Given the description of an element on the screen output the (x, y) to click on. 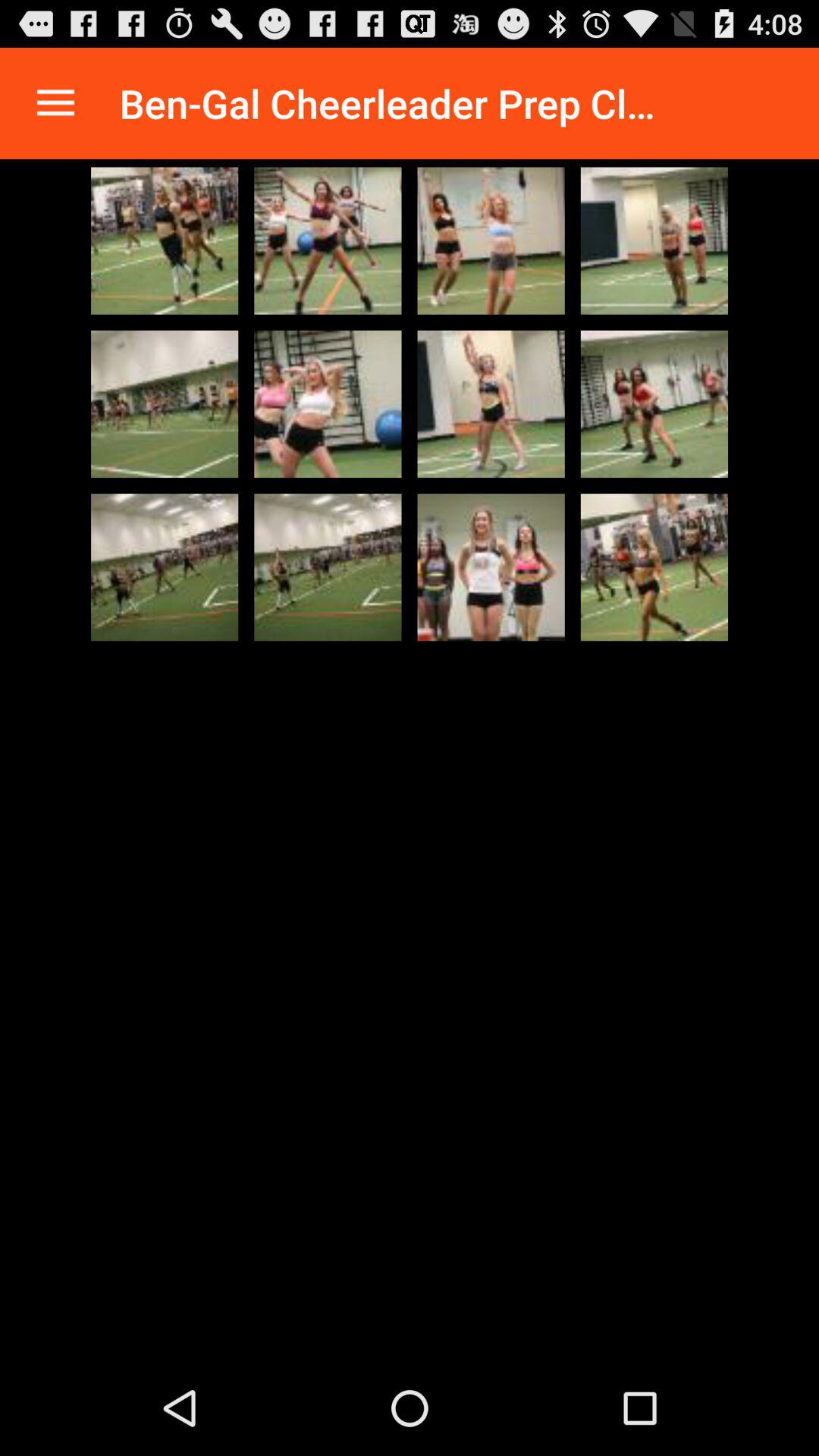
image select (654, 240)
